Given the description of an element on the screen output the (x, y) to click on. 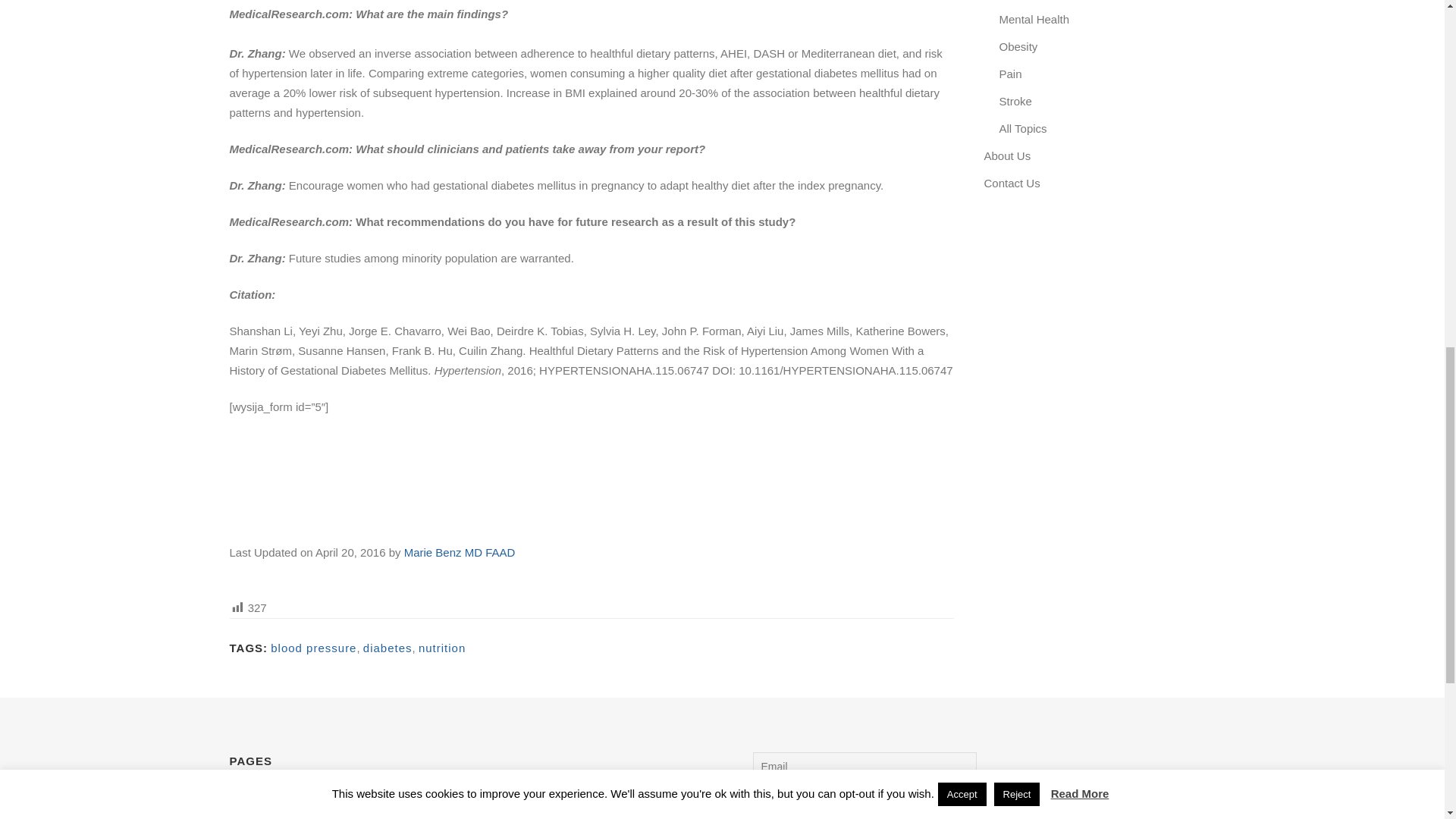
Subscribe (863, 794)
